Given the description of an element on the screen output the (x, y) to click on. 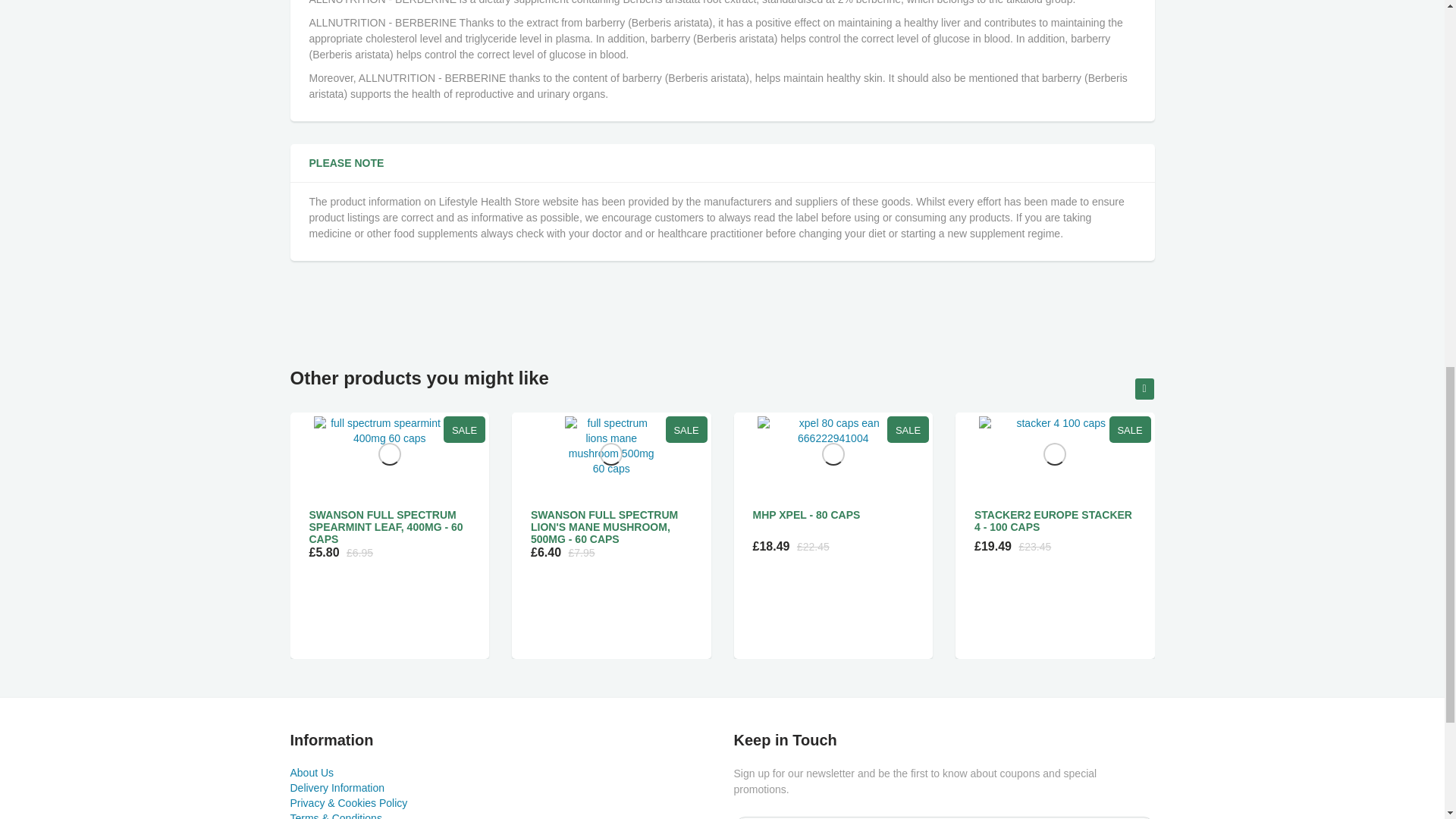
MHP XPEL - 80 CAPS (806, 514)
SWANSON FULL SPECTRUM LION'S MANE MUSHROOM, 500MG - 60 CAPS (604, 526)
SWANSON FULL SPECTRUM SPEARMINT LEAF, 400MG - 60 CAPS (385, 526)
